Given the description of an element on the screen output the (x, y) to click on. 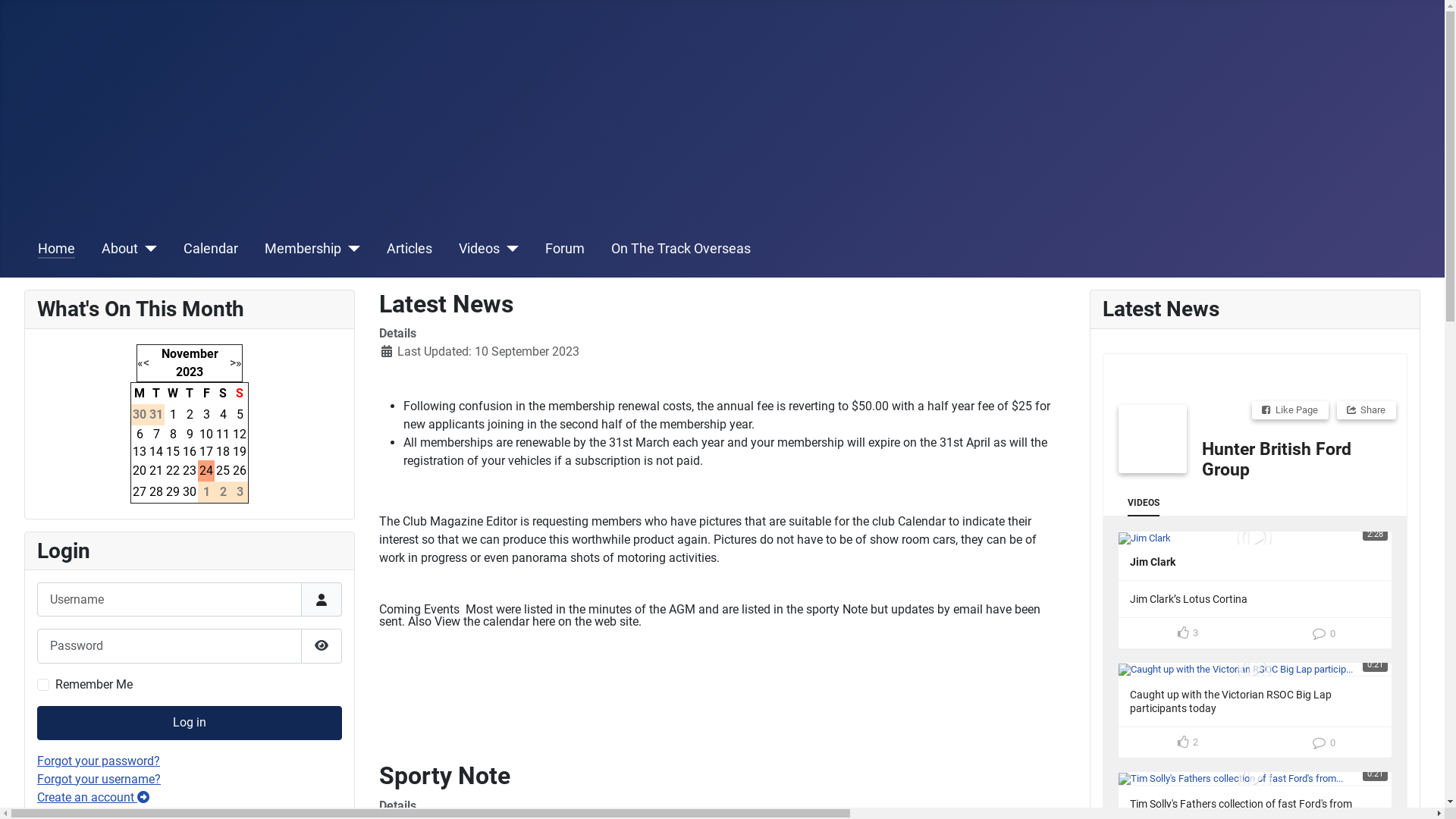
18 Element type: text (222, 451)
2023 Element type: text (189, 371)
Forum Element type: text (564, 248)
Home Element type: text (56, 248)
1 Element type: text (172, 414)
Forgot your password? Element type: text (98, 760)
19 Element type: text (239, 451)
15 Element type: text (172, 451)
  Element type: text (1152, 438)
17 Element type: text (206, 451)
6 Element type: text (139, 433)
3 Element type: text (206, 414)
Forgot your username? Element type: text (98, 778)
23 Element type: text (189, 470)
5 Element type: text (239, 414)
Videos Element type: text (478, 248)
7 Element type: text (156, 433)
22 Element type: text (172, 470)
On The Track Overseas Element type: text (680, 248)
Create an account Element type: text (93, 797)
Calendar Element type: text (210, 248)
Log in Element type: text (189, 723)
Show Password Element type: text (321, 645)
13 Element type: text (139, 451)
30 Element type: text (189, 491)
Username Element type: hover (321, 599)
29 Element type: text (172, 491)
0:21 Element type: text (1254, 777)
12 Element type: text (239, 433)
0:21 Element type: text (1254, 668)
16 Element type: text (189, 451)
25 Element type: text (222, 470)
November Element type: text (189, 353)
About Element type: text (119, 248)
10 Element type: text (206, 433)
Share Element type: text (1366, 410)
Membership Element type: text (302, 248)
Jim Clark Element type: text (1152, 561)
26 Element type: text (239, 470)
Hunter British Ford Group Element type: text (1276, 459)
27 Element type: text (139, 491)
2:28 Element type: text (1254, 537)
2 Element type: text (189, 414)
Like Page Element type: text (1290, 410)
21 Element type: text (156, 470)
20 Element type: text (139, 470)
9 Element type: text (189, 433)
8 Element type: text (172, 433)
11 Element type: text (222, 433)
28 Element type: text (156, 491)
24 Element type: text (206, 470)
Articles Element type: text (409, 248)
4 Element type: text (222, 414)
14 Element type: text (156, 451)
